Given the description of an element on the screen output the (x, y) to click on. 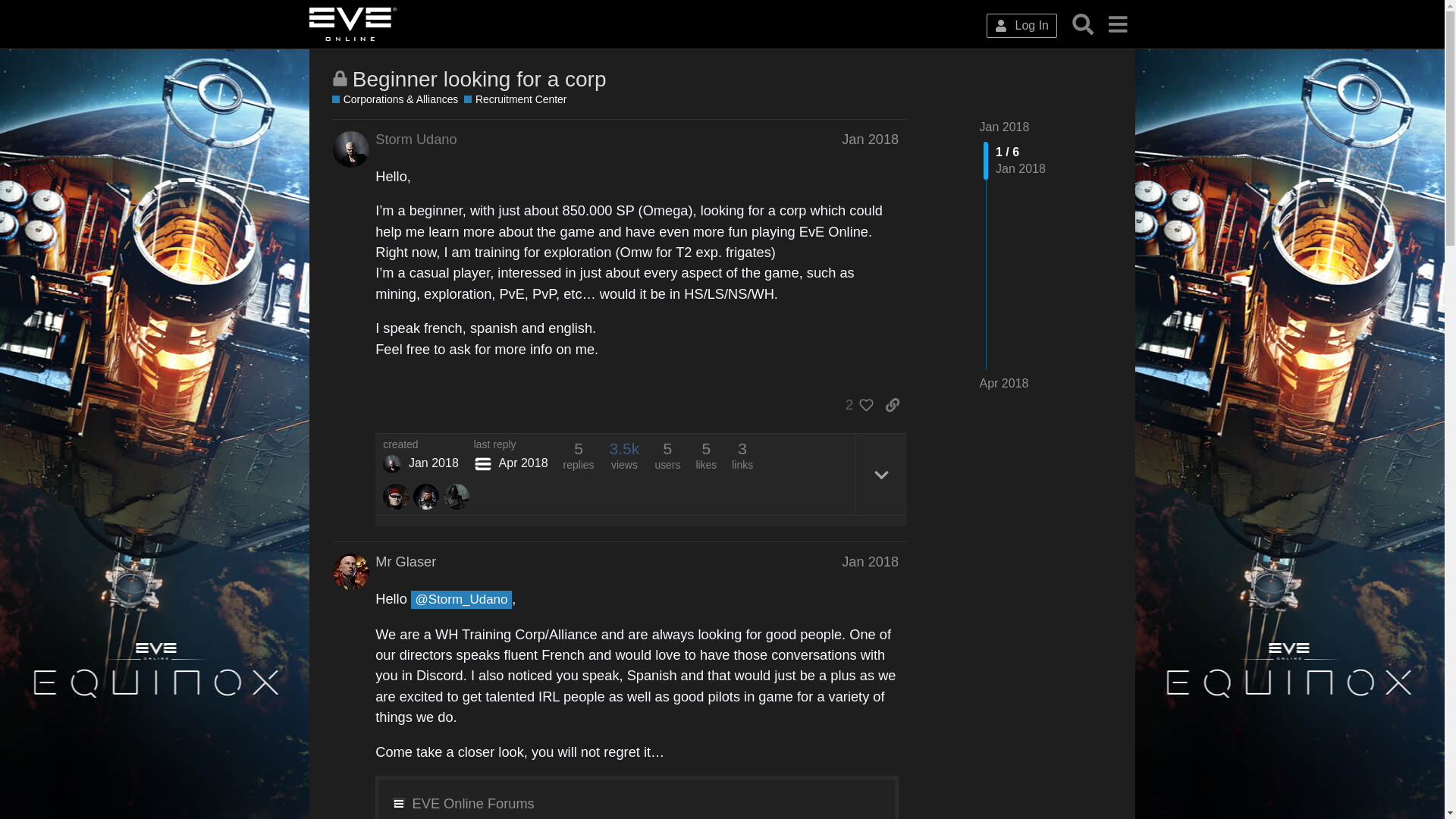
Storm Udano (416, 139)
Storm Udano (391, 464)
Jan 2018 (1004, 126)
Search (1082, 23)
Jan 2018 (869, 139)
Beginner looking for a corp (479, 78)
system (483, 464)
copy a link to this post to clipboard (892, 404)
last reply (511, 444)
menu (1117, 23)
Jan 2018 (869, 562)
Recruitment Center (515, 99)
This topic is closed; it no longer accepts new replies (339, 78)
Jump to the last post (1004, 382)
expand topic details (881, 474)
